Given the description of an element on the screen output the (x, y) to click on. 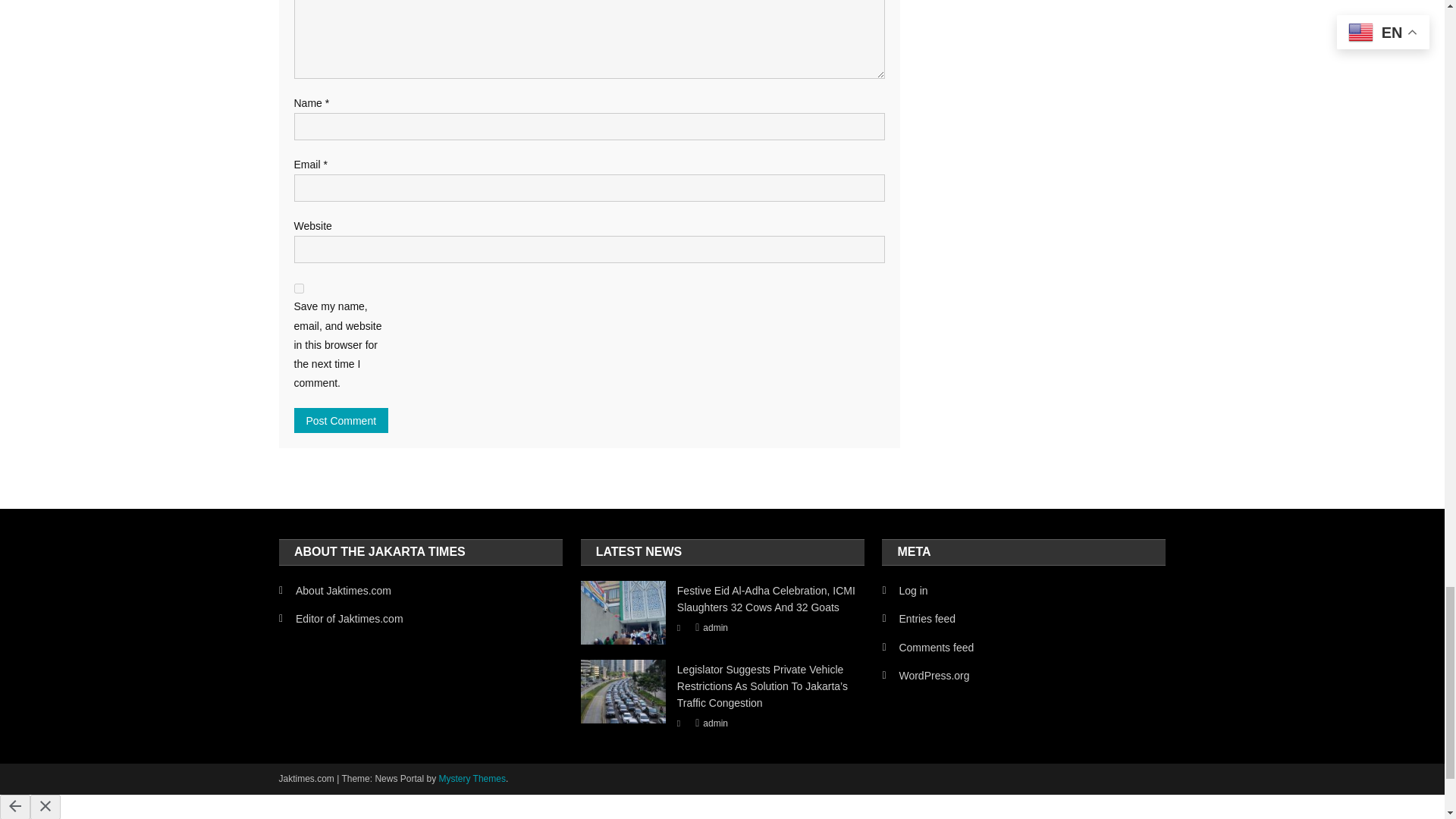
yes (299, 288)
Post Comment (341, 420)
